Given the description of an element on the screen output the (x, y) to click on. 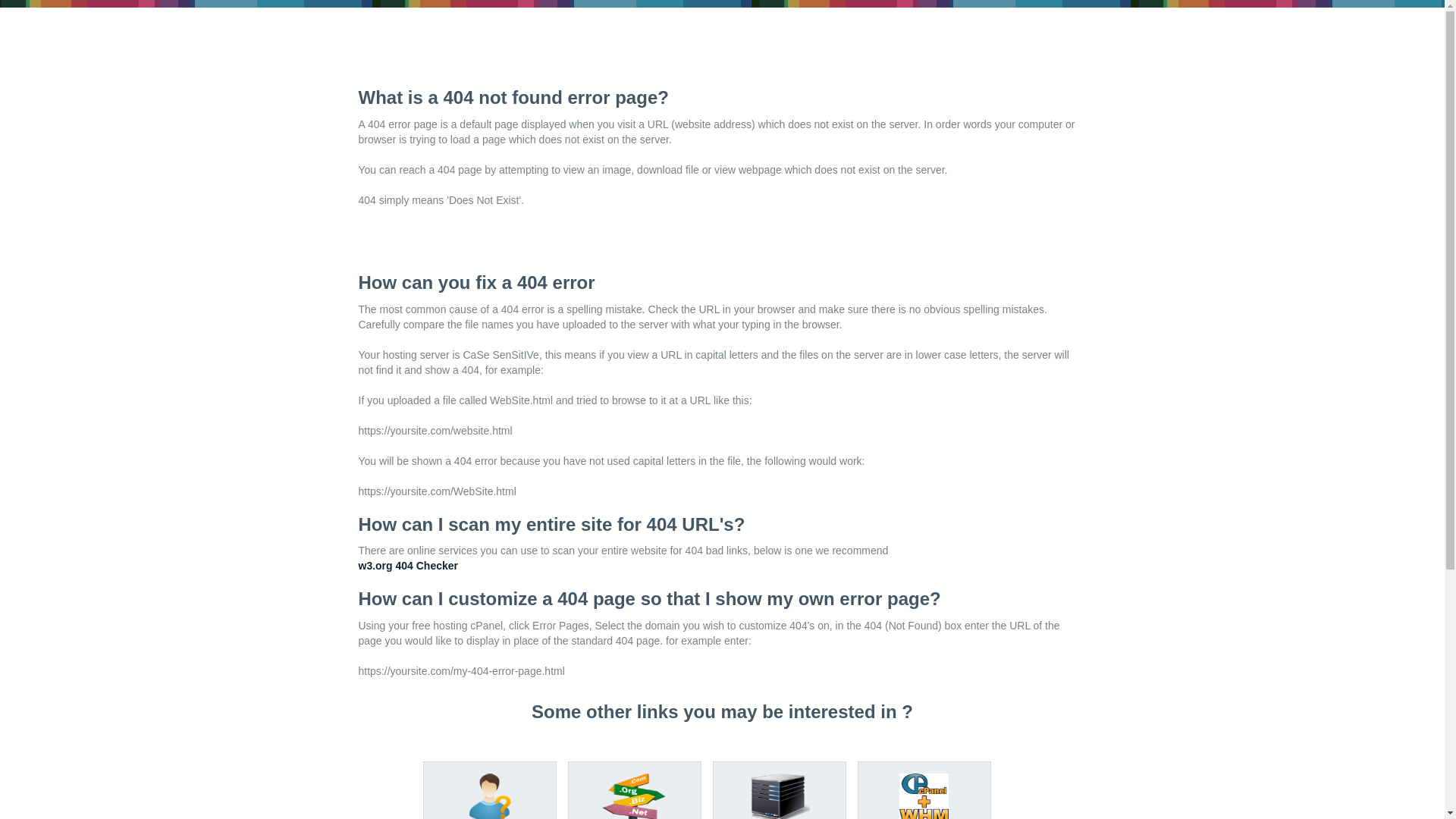
Advertisement Element type: hover (534, 245)
Advertisement Element type: hover (534, 60)
w3.org 404 Checker Element type: text (407, 565)
